Given the description of an element on the screen output the (x, y) to click on. 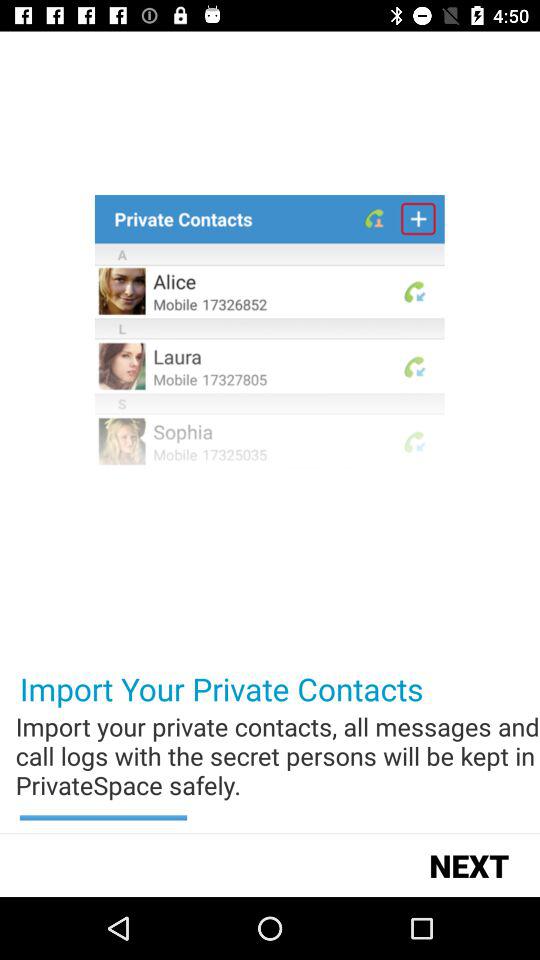
swipe to the next (468, 864)
